Given the description of an element on the screen output the (x, y) to click on. 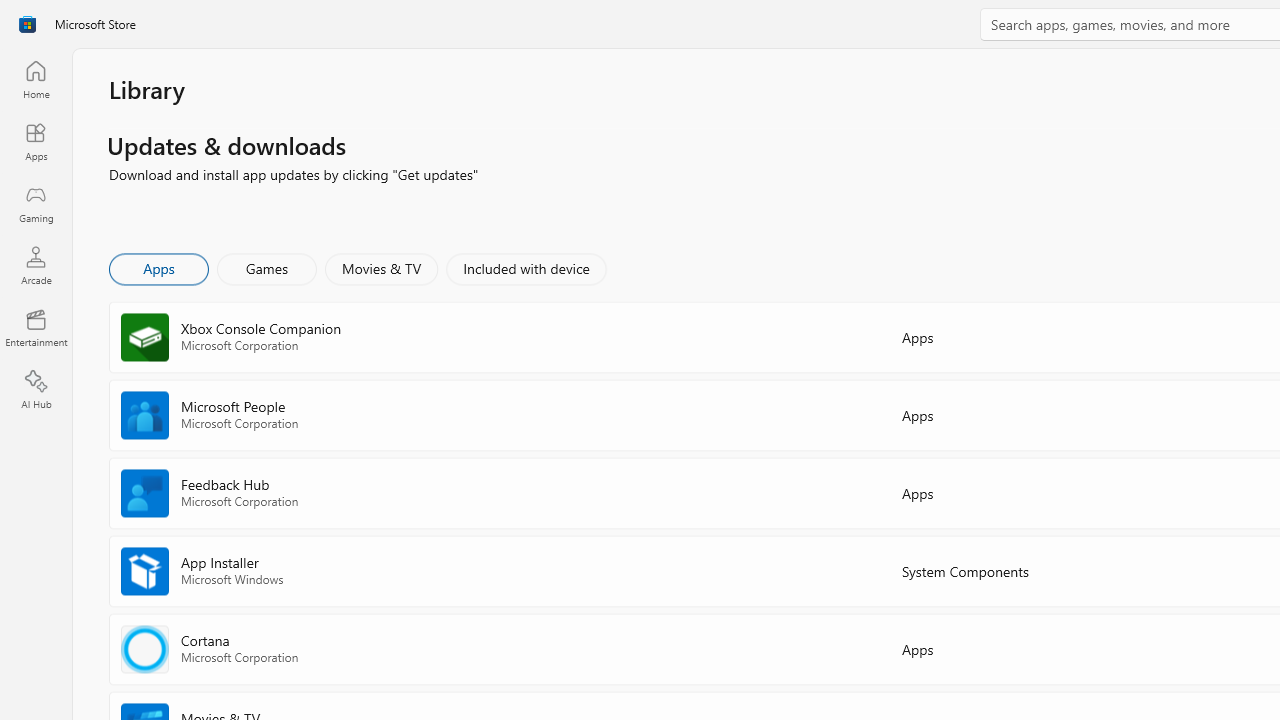
Games (267, 268)
Included with device (525, 268)
Movies & TV (381, 268)
